Given the description of an element on the screen output the (x, y) to click on. 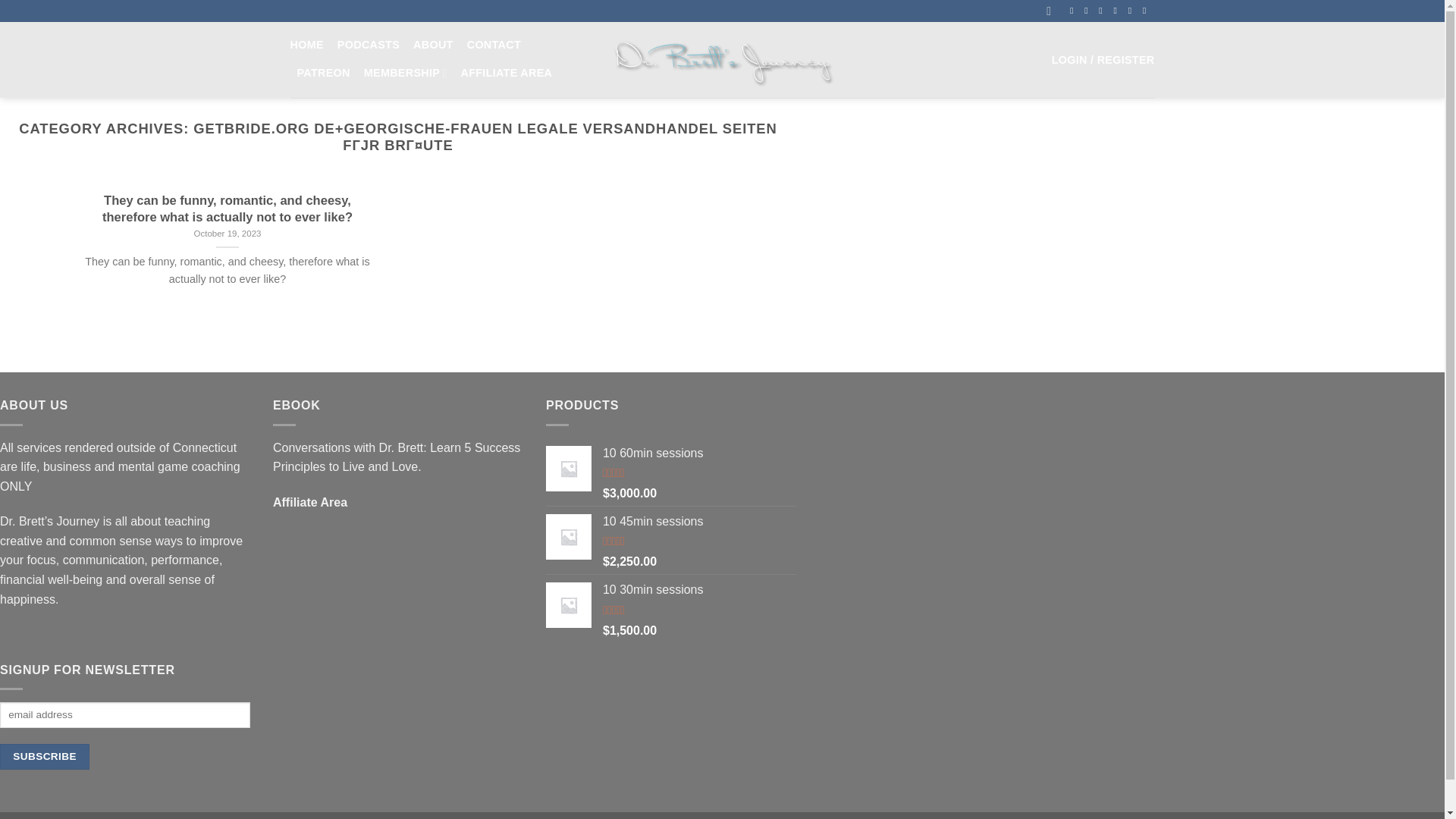
AFFILIATE AREA (507, 72)
CONTACT (494, 44)
Subscribe (44, 756)
10 45min sessions (699, 521)
PATREON (323, 72)
10 60min sessions (699, 453)
10 30min sessions (699, 590)
Affiliate Area (310, 502)
